Given the description of an element on the screen output the (x, y) to click on. 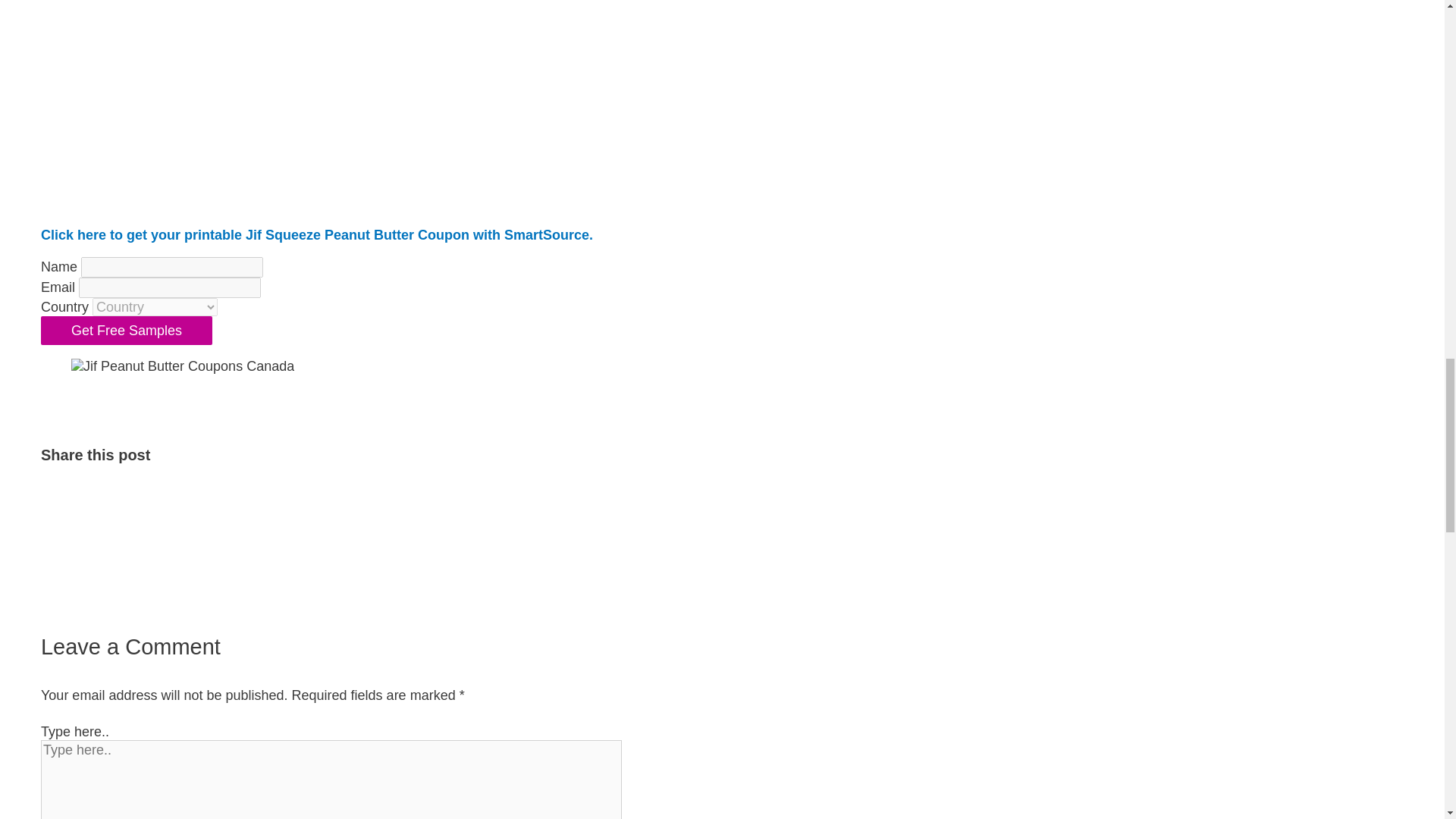
Get Free Samples (126, 330)
Get Free Samples (126, 330)
